Given the description of an element on the screen output the (x, y) to click on. 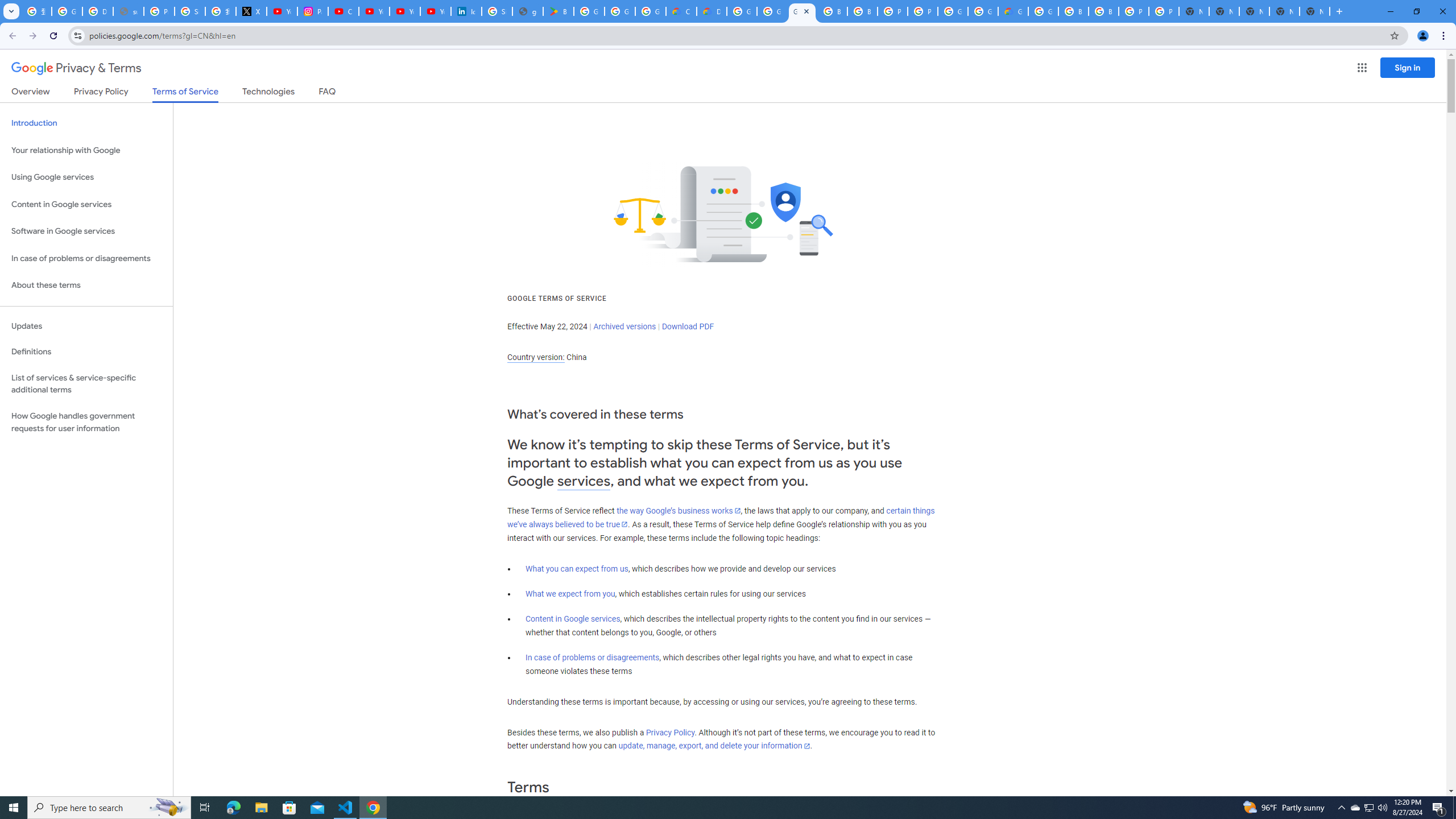
Privacy Help Center - Policies Help (158, 11)
Google Cloud Platform (741, 11)
Archived versions (624, 326)
Google Workspace - Specific Terms (619, 11)
Bluey: Let's Play! - Apps on Google Play (558, 11)
About these terms (86, 284)
support.google.com - Network error (127, 11)
